Given the description of an element on the screen output the (x, y) to click on. 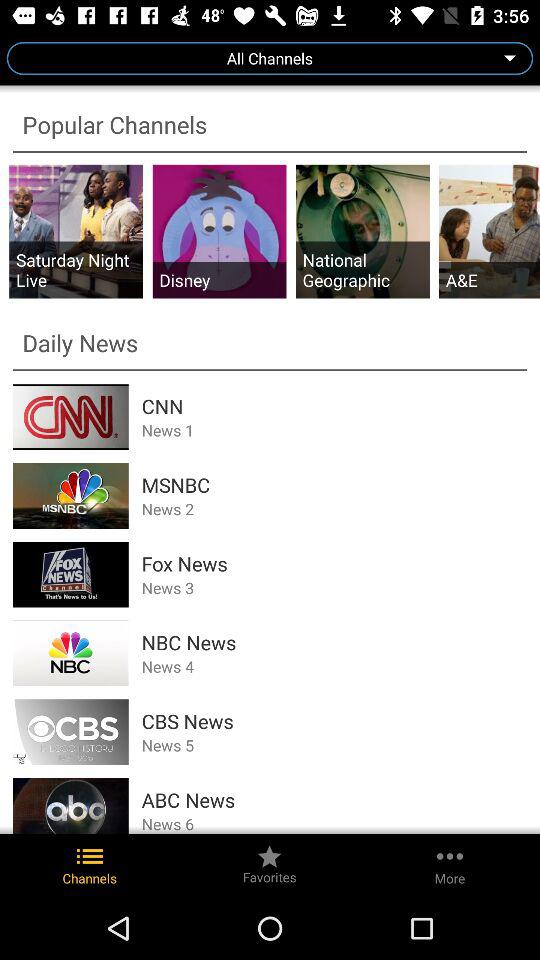
choose app above the news 2 item (333, 484)
